Given the description of an element on the screen output the (x, y) to click on. 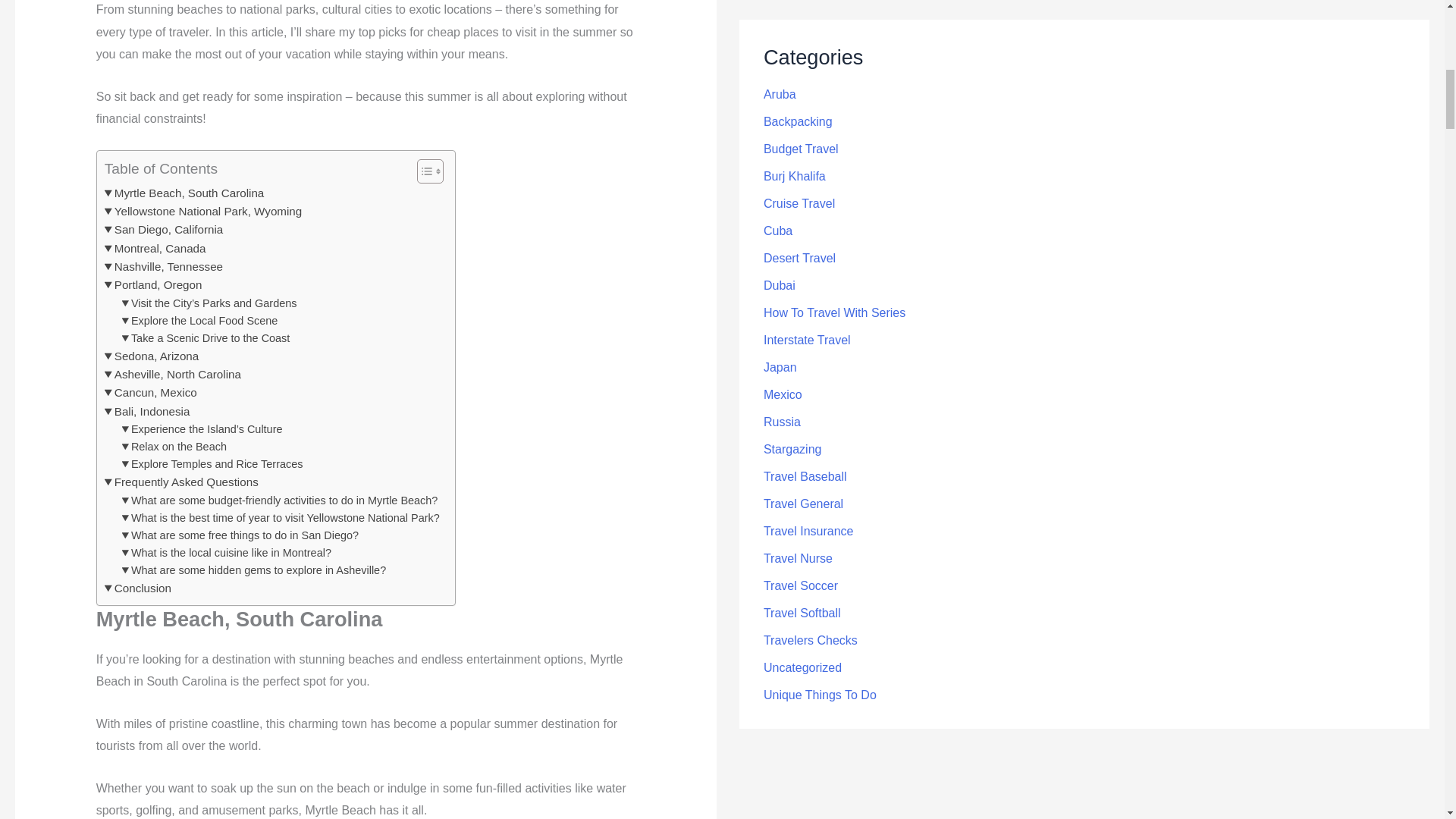
Take a Scenic Drive to the Coast (205, 338)
Myrtle Beach, South Carolina (184, 193)
Take a Scenic Drive to the Coast (205, 338)
Frequently Asked Questions (181, 482)
San Diego, California (164, 229)
Portland, Oregon (153, 285)
Cancun, Mexico (150, 393)
Yellowstone National Park, Wyoming (203, 211)
Bali, Indonesia (147, 411)
Yellowstone National Park, Wyoming (203, 211)
